Given the description of an element on the screen output the (x, y) to click on. 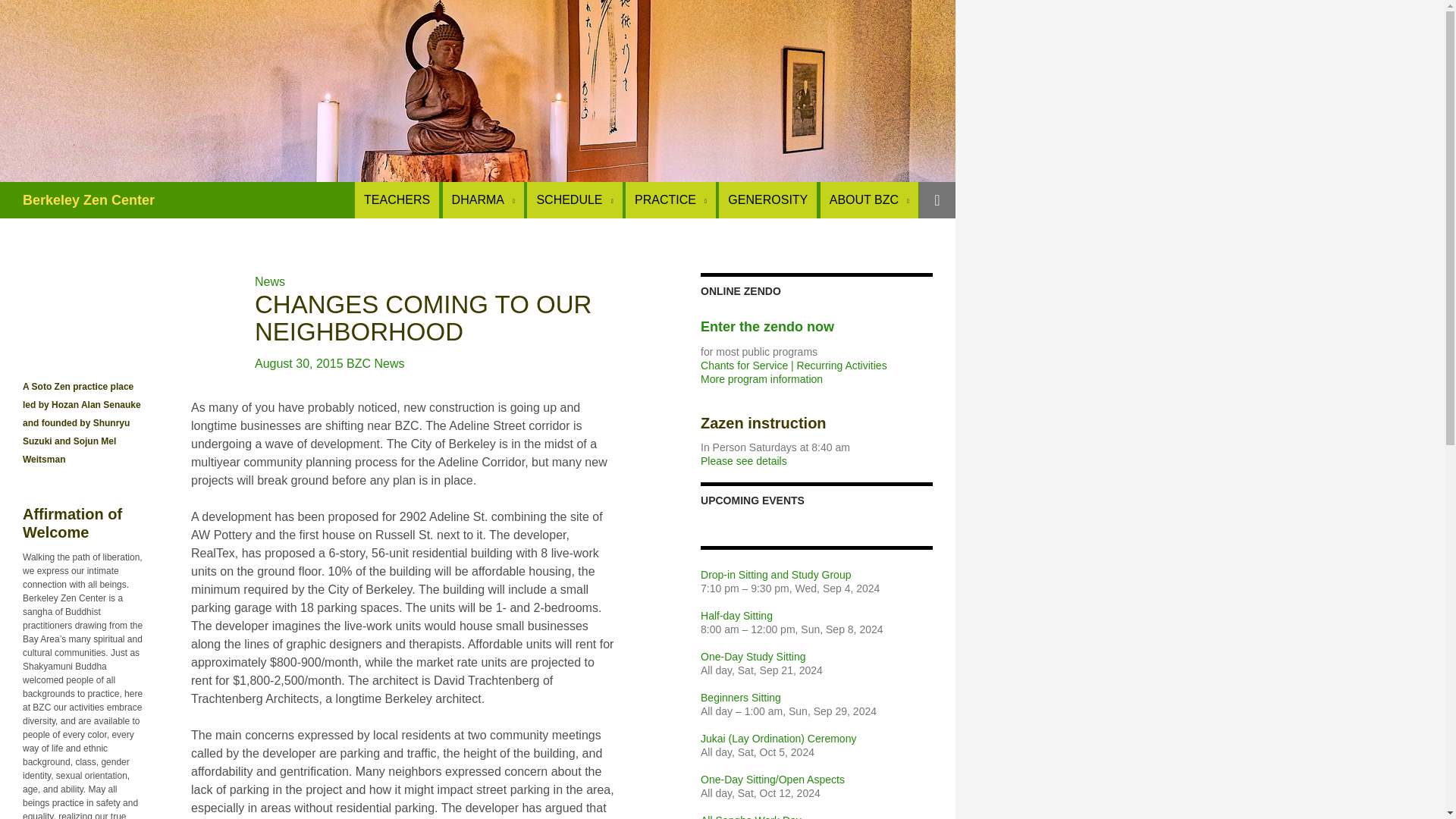
DHARMA (483, 199)
August 30, 2015 (298, 363)
PRACTICE (671, 199)
SCHEDULE (574, 199)
TEACHERS (397, 199)
Berkeley Zen Center (88, 199)
News (269, 281)
ABOUT BZC (869, 199)
